Given the description of an element on the screen output the (x, y) to click on. 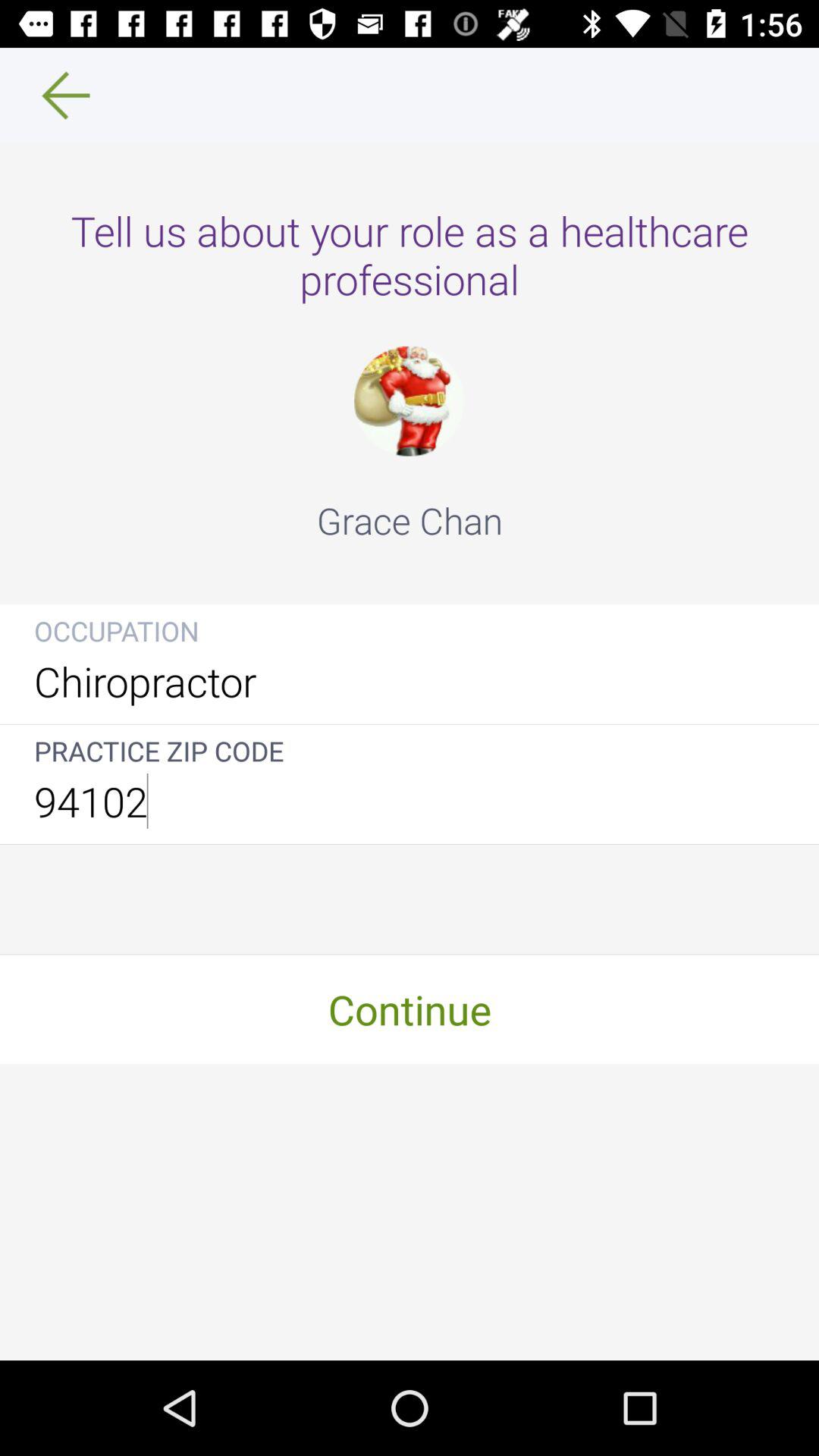
swipe until the 94102 icon (409, 800)
